Given the description of an element on the screen output the (x, y) to click on. 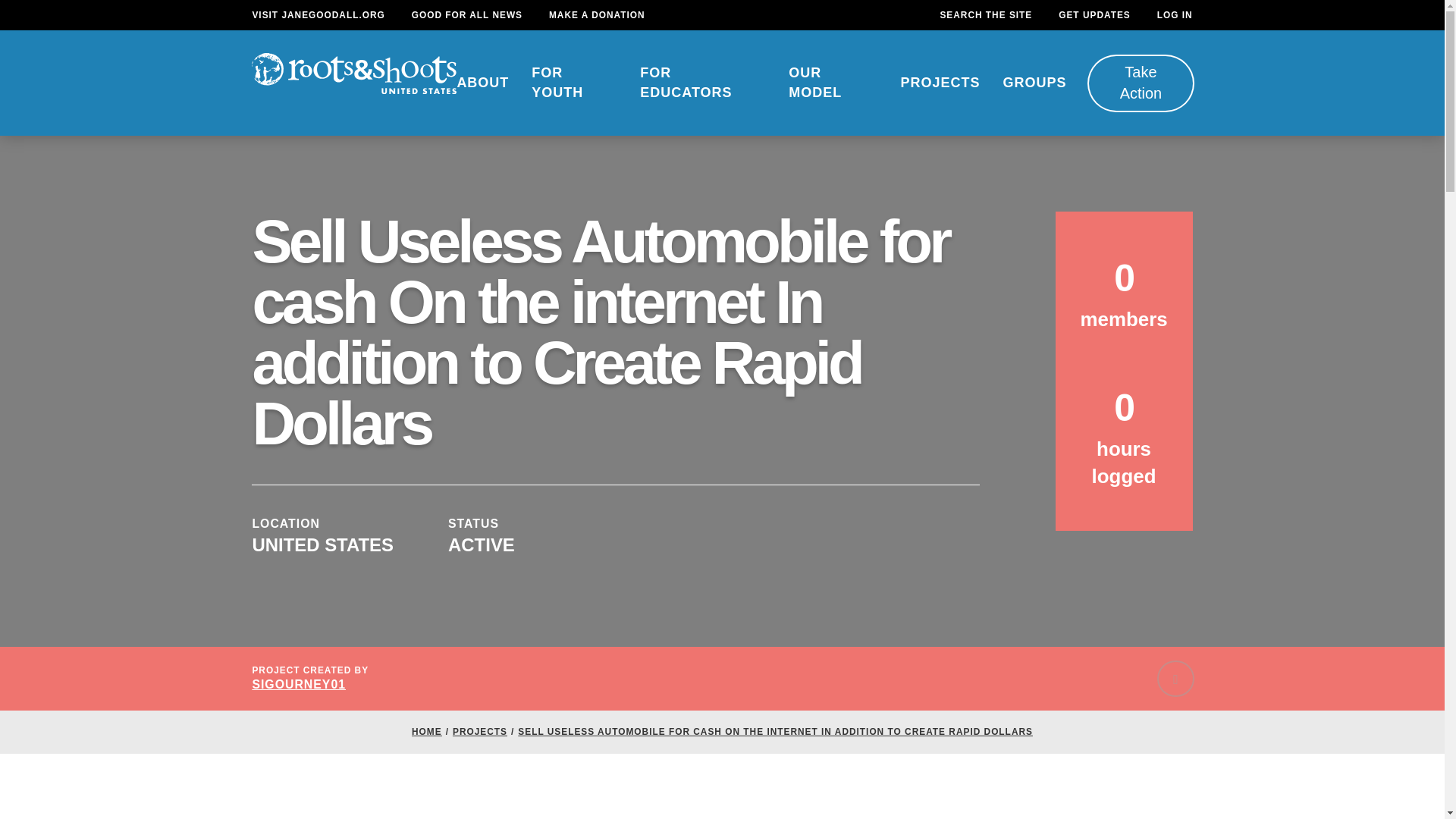
GET UPDATES (1094, 15)
PROJECTS (940, 83)
GOOD FOR ALL NEWS (467, 15)
FOR EDUCATORS (702, 82)
LOG IN (1174, 15)
SEARCH THE SITE (985, 15)
VISIT JANEGOODALL.ORG (317, 15)
MAKE A DONATION (596, 15)
Go to Projects. (479, 731)
